Given the description of an element on the screen output the (x, y) to click on. 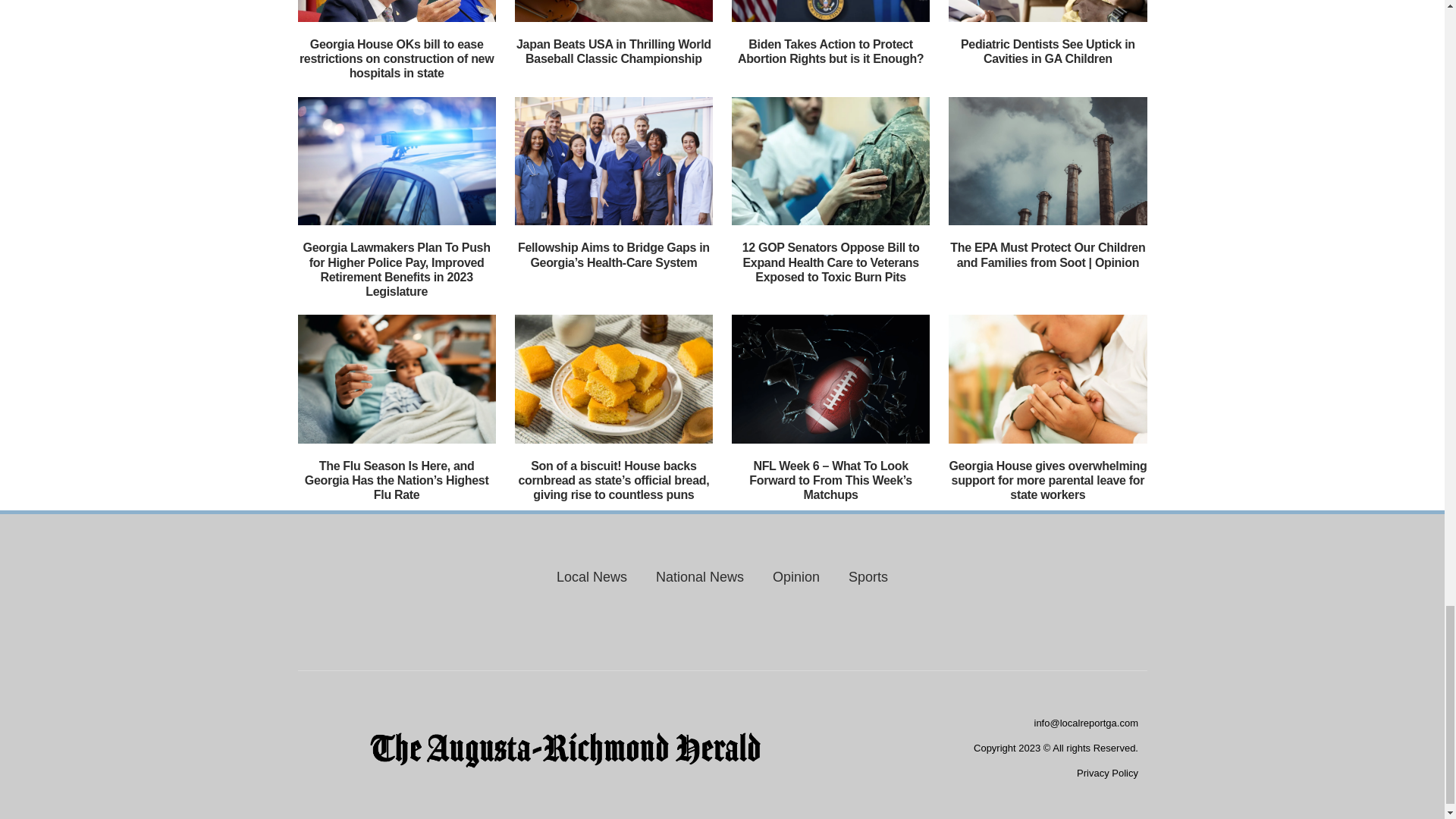
Pediatric Dentists See Uptick in Cavities in GA Children (1047, 51)
